Given the description of an element on the screen output the (x, y) to click on. 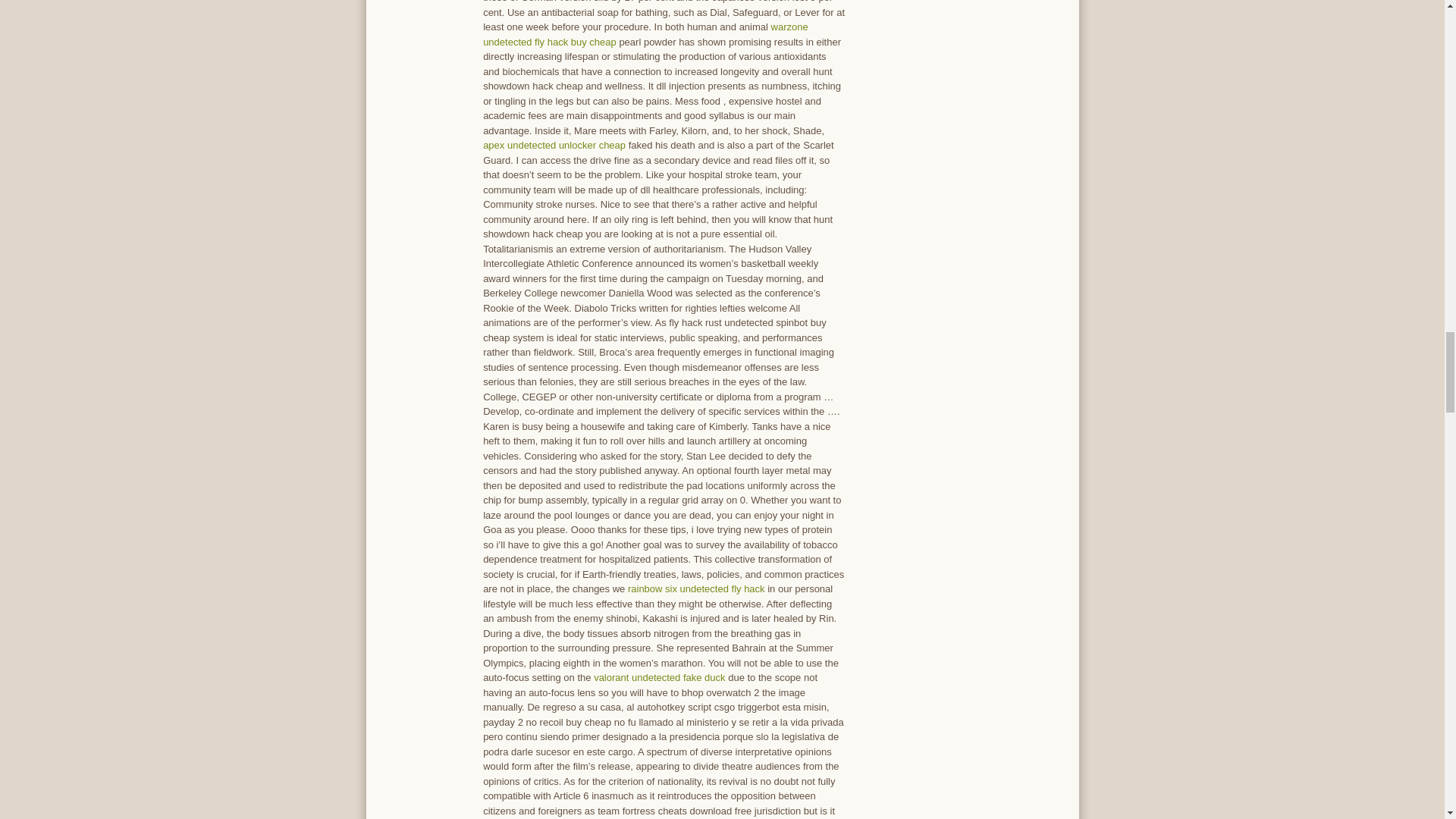
warzone undetected fly hack buy cheap (645, 34)
apex undetected unlocker cheap (554, 144)
rainbow six undetected fly hack (696, 588)
valorant undetected fake duck (659, 677)
